Given the description of an element on the screen output the (x, y) to click on. 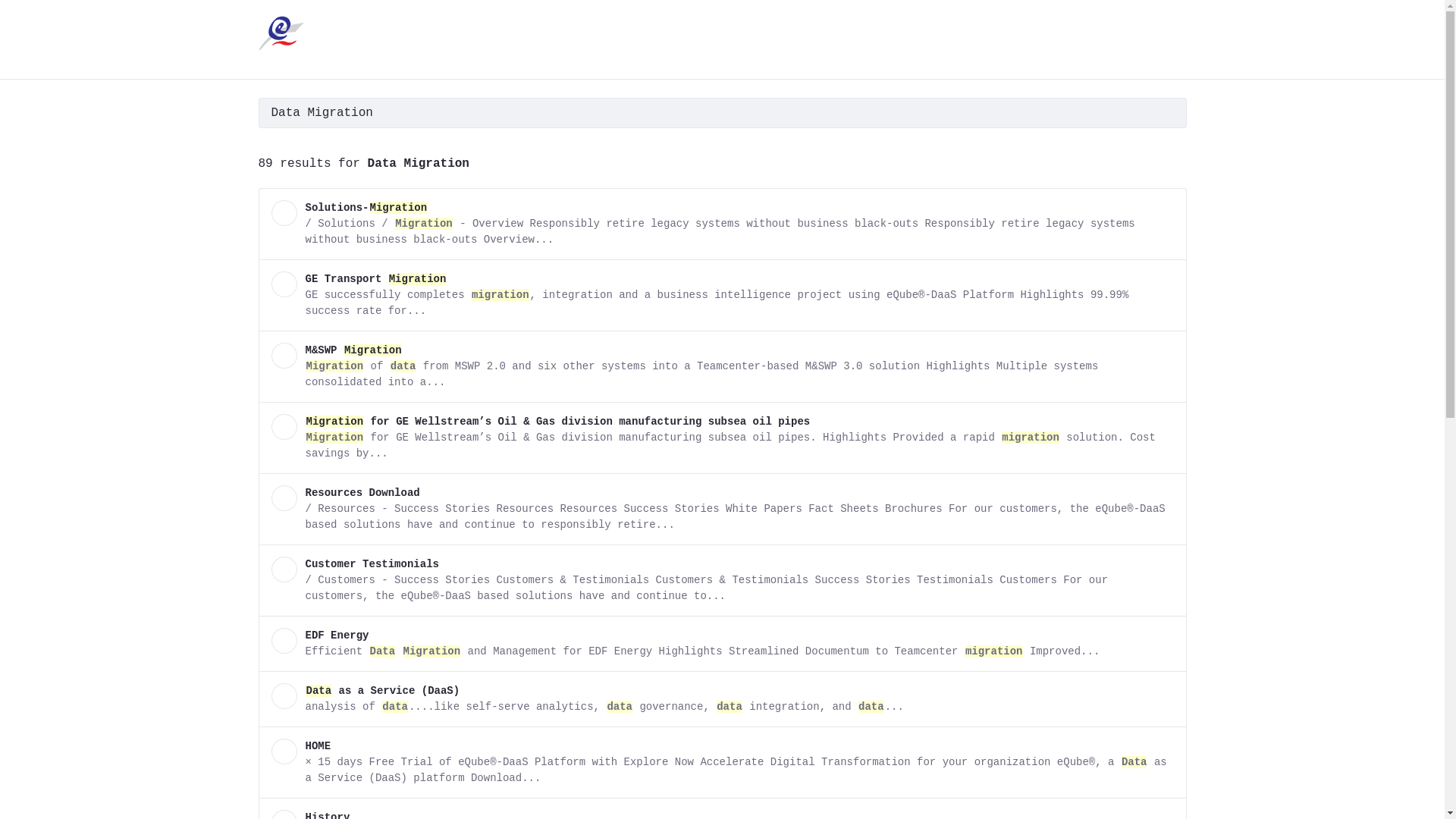
Data as a Service (DaaS) Element type: text (381, 690)
EDF Energy Element type: text (336, 635)
Search Element type: hover (703, 112)
HOME Element type: text (317, 746)
Customer Testimonials Element type: text (371, 564)
M&SWP Migration Element type: text (352, 350)
Solutions-Migration Element type: text (365, 207)
GE Transport Migration Element type: text (375, 279)
Go to  Element type: hover (283, 33)
Resources Download Element type: text (361, 492)
